Given the description of an element on the screen output the (x, y) to click on. 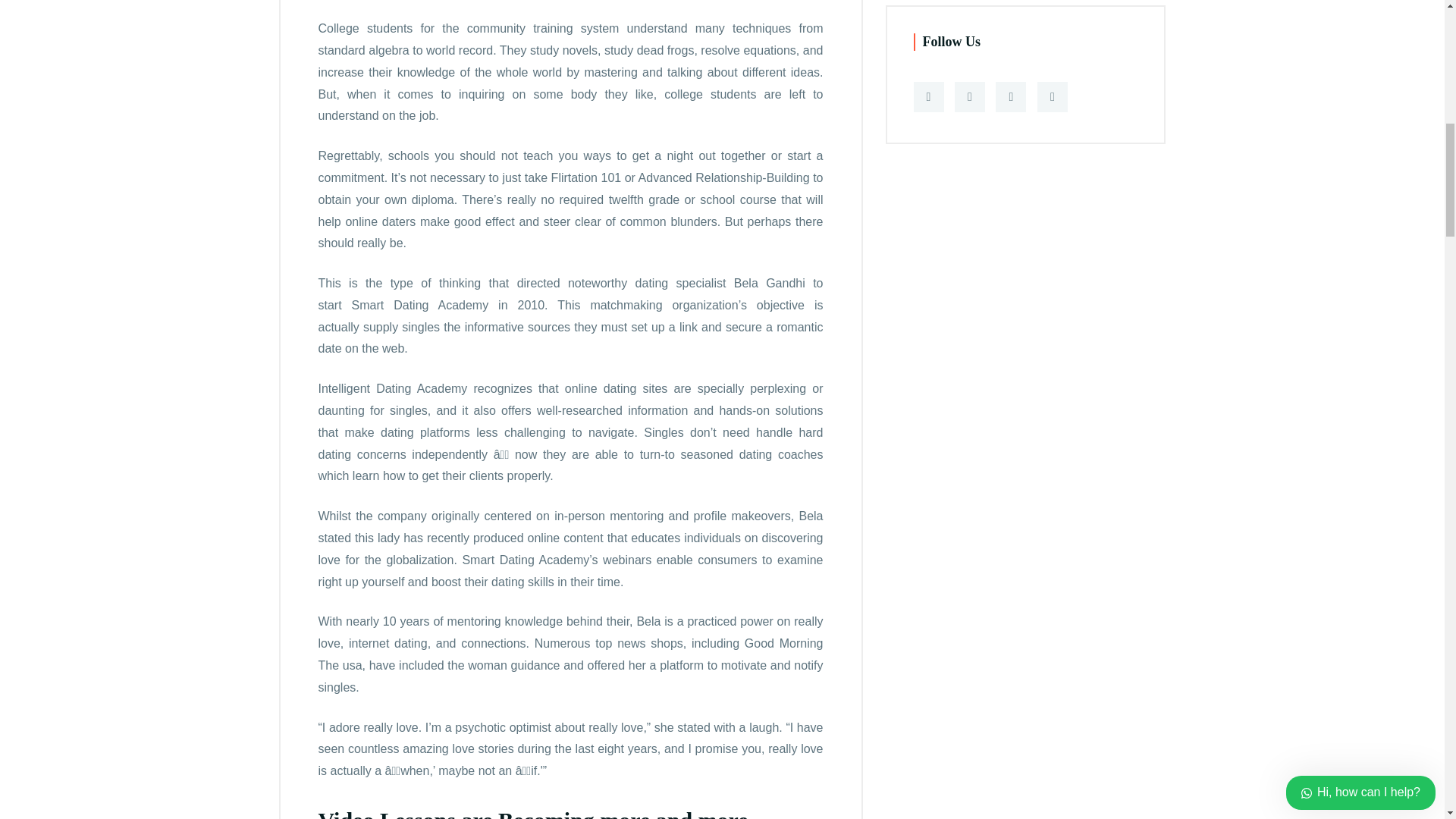
Twitter (970, 96)
Facebook (927, 96)
Instagram (1051, 96)
Linkedin (1010, 96)
